Given the description of an element on the screen output the (x, y) to click on. 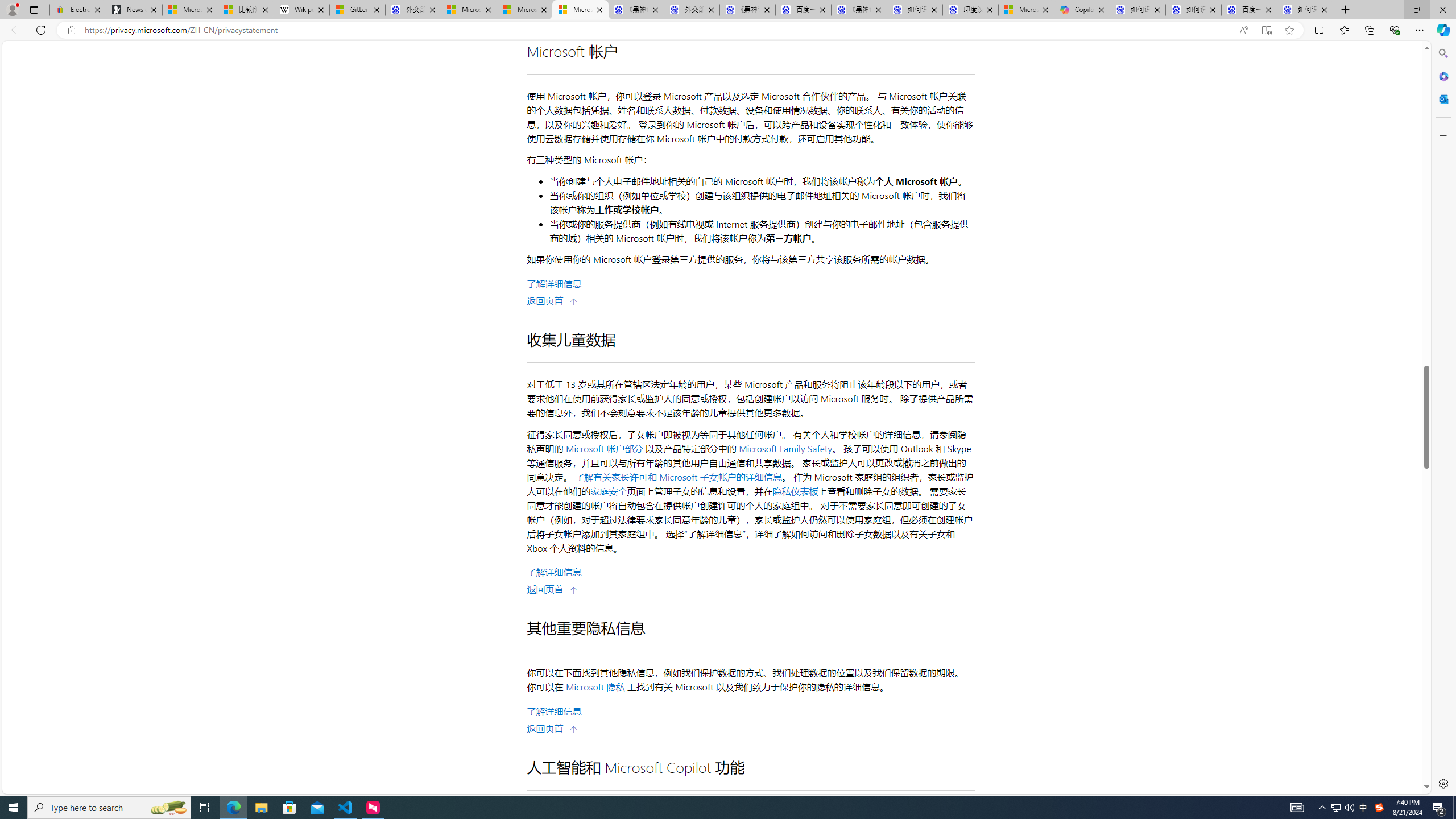
Copilot (1082, 9)
Wikipedia (301, 9)
Newsletter Sign Up (134, 9)
